Given the description of an element on the screen output the (x, y) to click on. 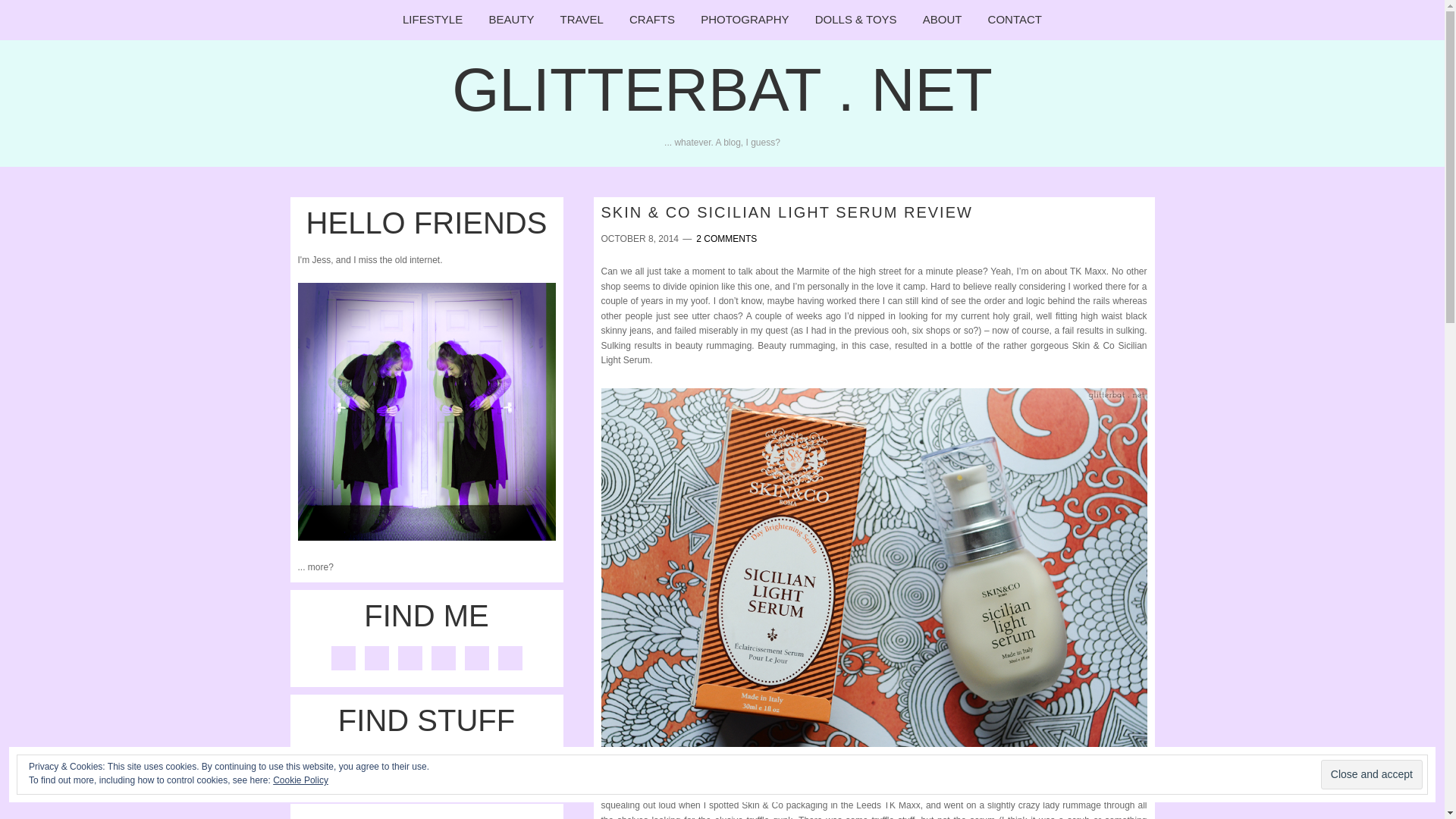
2 COMMENTS (726, 238)
BEAUTY (510, 20)
TRAVEL (581, 20)
Close and accept (1371, 774)
PHOTOGRAPHY (743, 20)
GLITTERBAT . NET (721, 89)
CONTACT (1014, 20)
more (318, 566)
CRAFTS (651, 20)
Close and accept (1371, 774)
LIFESTYLE (432, 20)
ABOUT (942, 20)
